Given the description of an element on the screen output the (x, y) to click on. 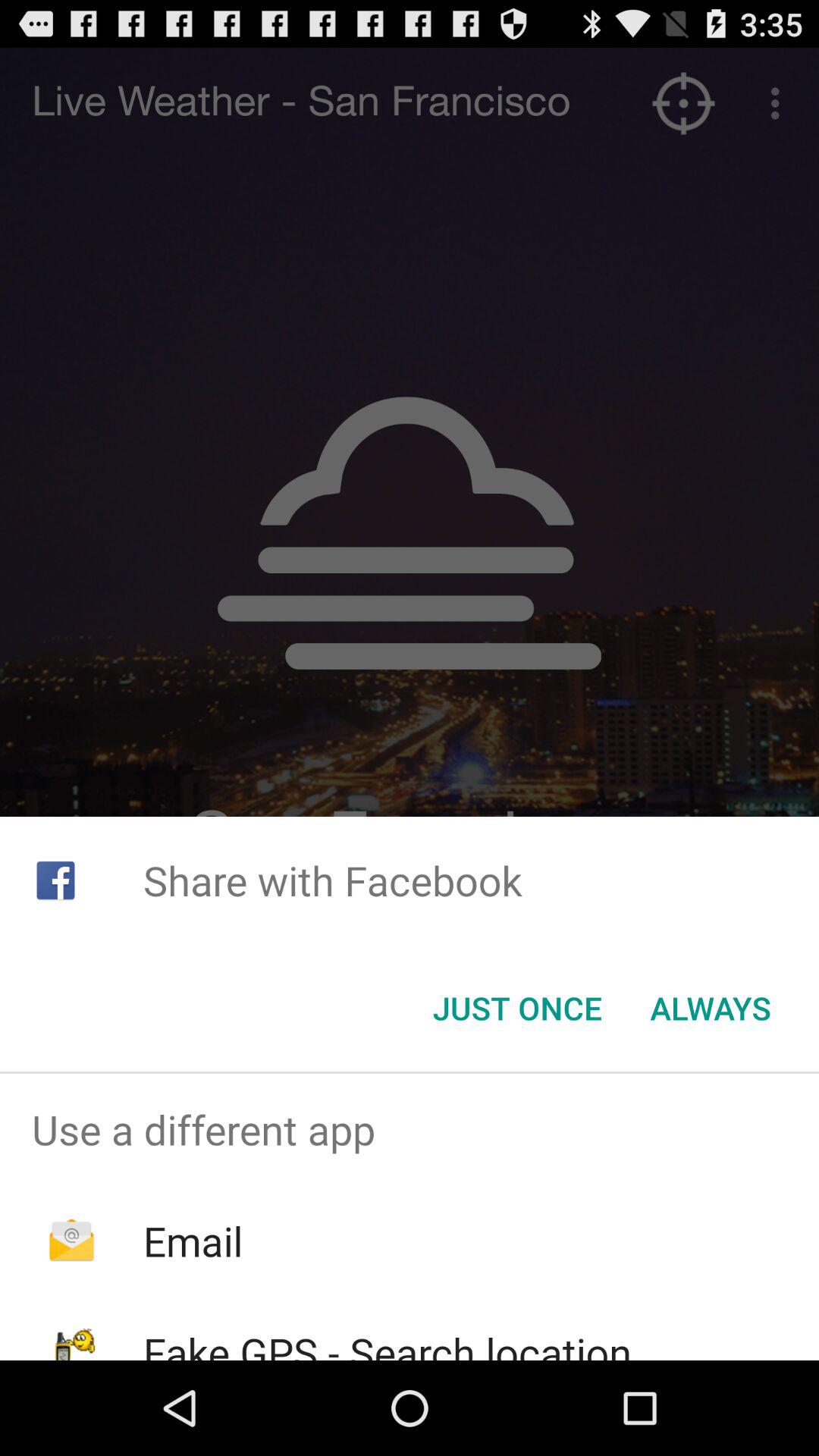
scroll to email icon (192, 1240)
